Given the description of an element on the screen output the (x, y) to click on. 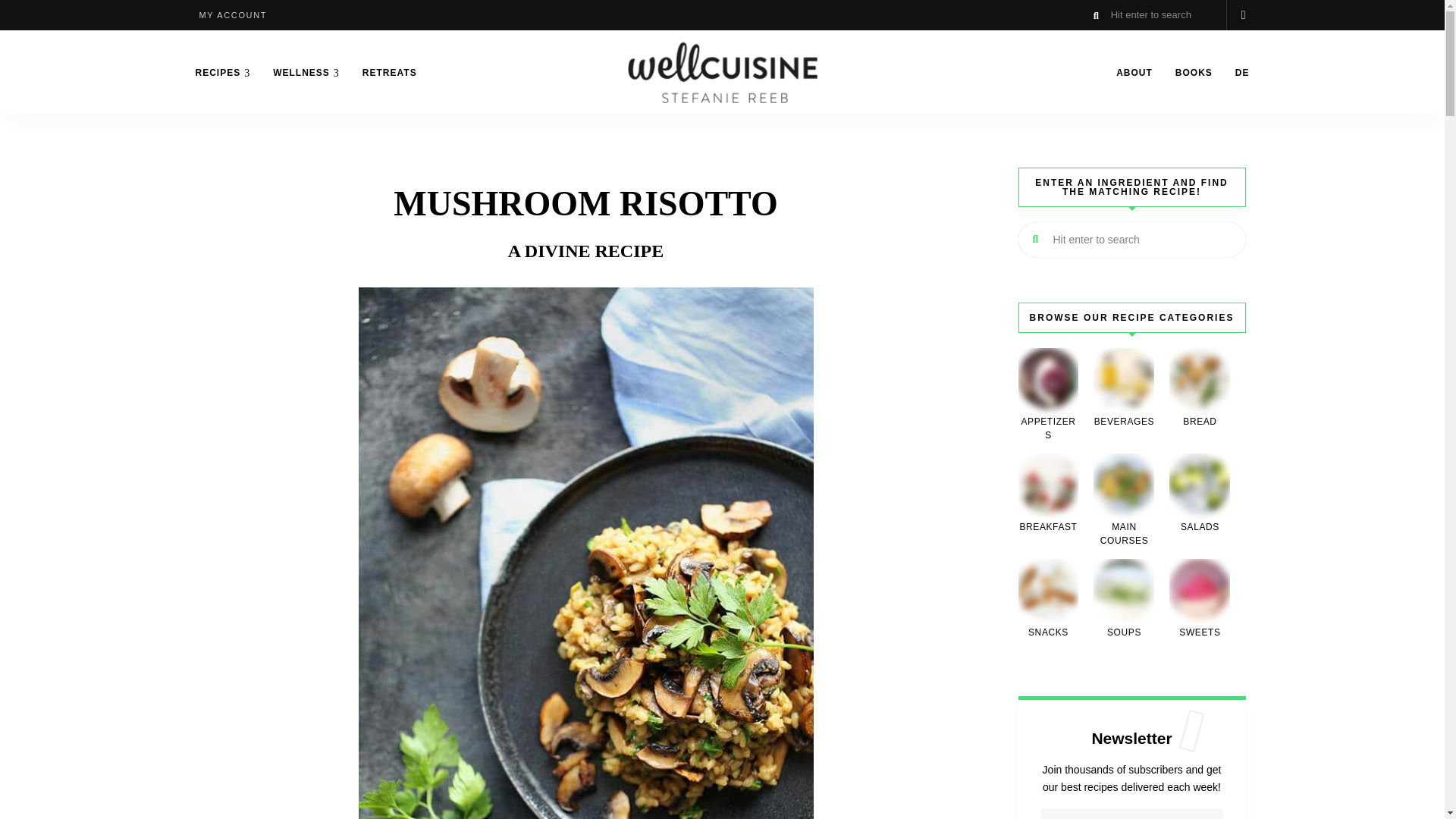
RECIPES (222, 72)
MY ACCOUNT (232, 15)
View your shopping cart (1242, 15)
WELLNESS (306, 72)
Wellcuisine (678, 126)
RETREATS (389, 72)
